Given the description of an element on the screen output the (x, y) to click on. 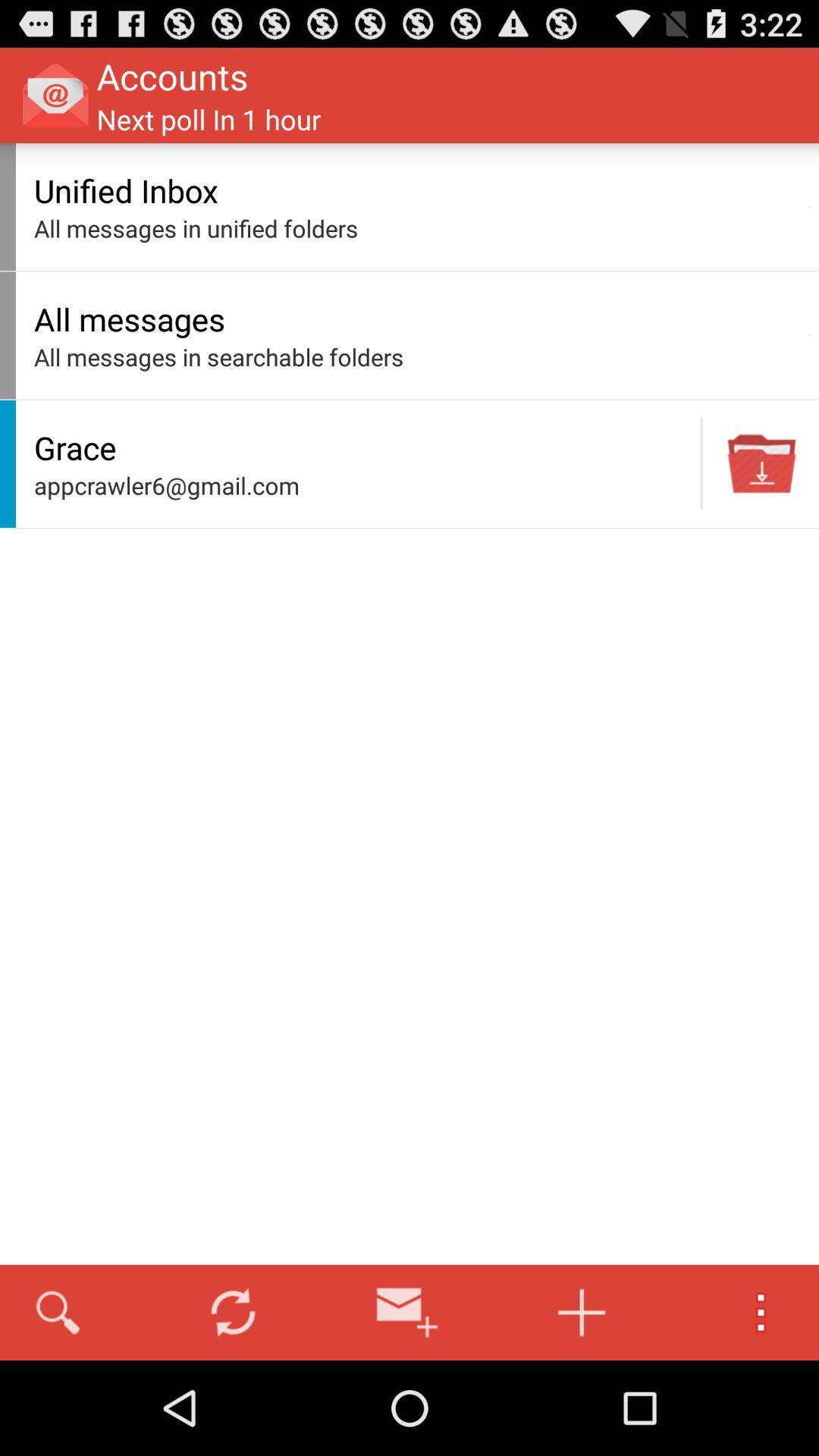
click grace app (363, 447)
